Given the description of an element on the screen output the (x, y) to click on. 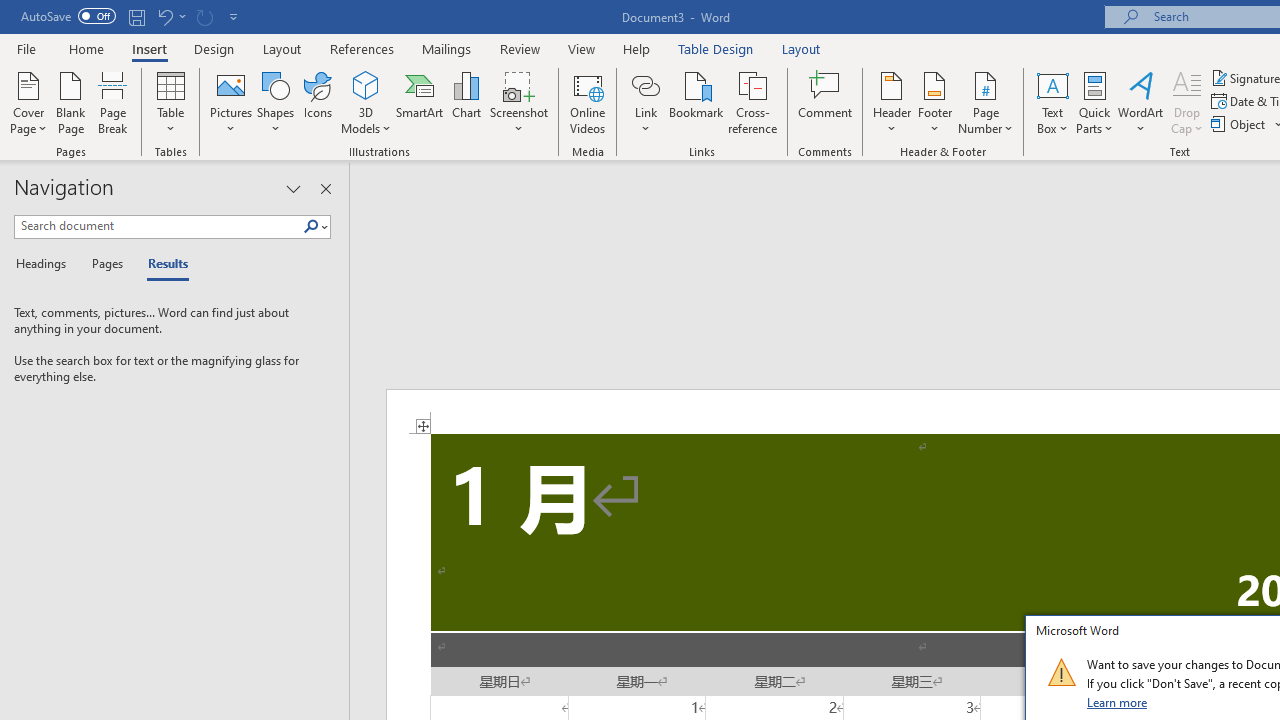
Screenshot (518, 102)
Online Videos... (588, 102)
Bookmark... (695, 102)
SmartArt... (419, 102)
Drop Cap (1187, 102)
Header (891, 102)
